Given the description of an element on the screen output the (x, y) to click on. 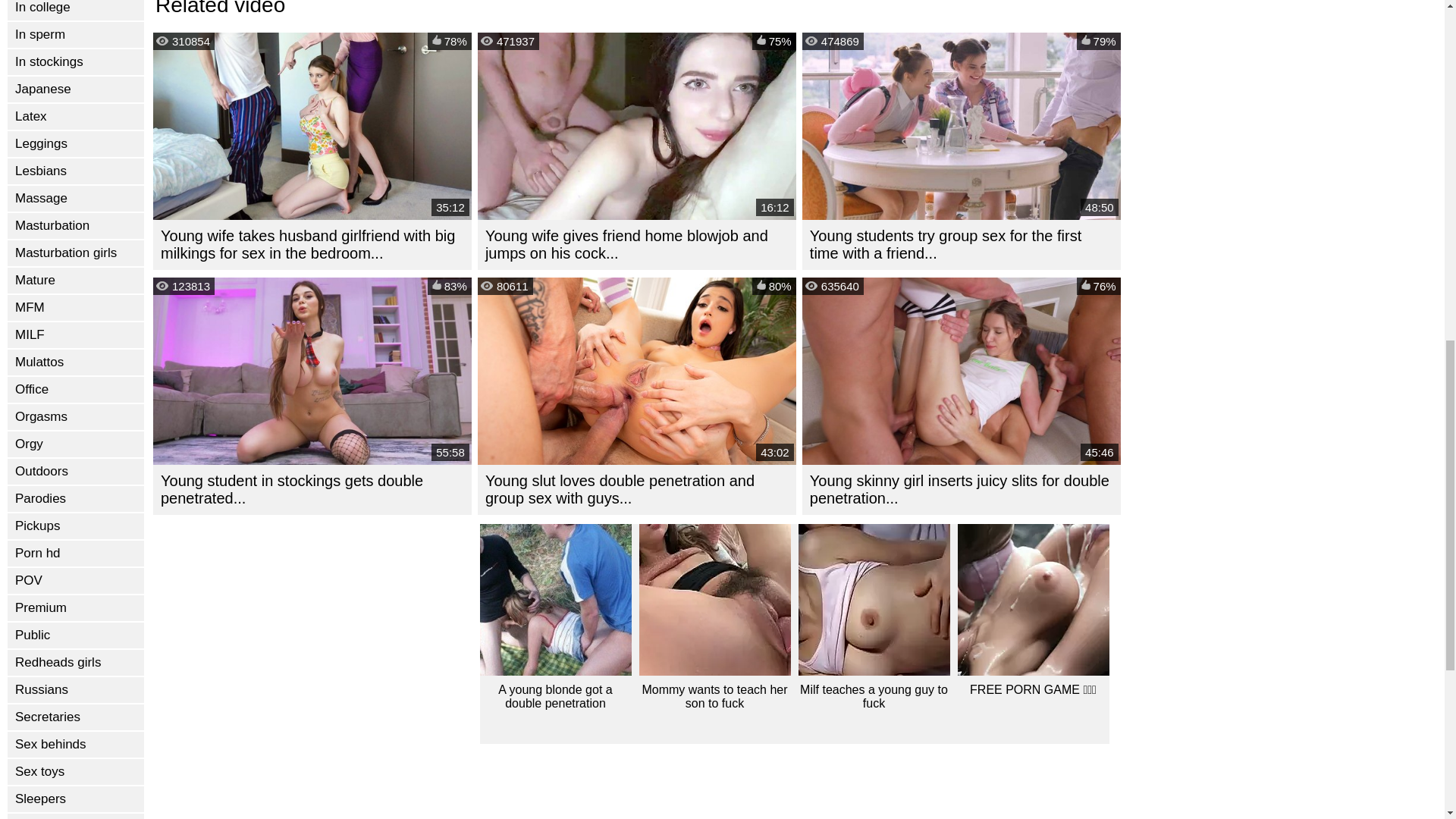
In stockings (75, 62)
In college (75, 10)
In sperm (75, 34)
Japanese (75, 89)
